Given the description of an element on the screen output the (x, y) to click on. 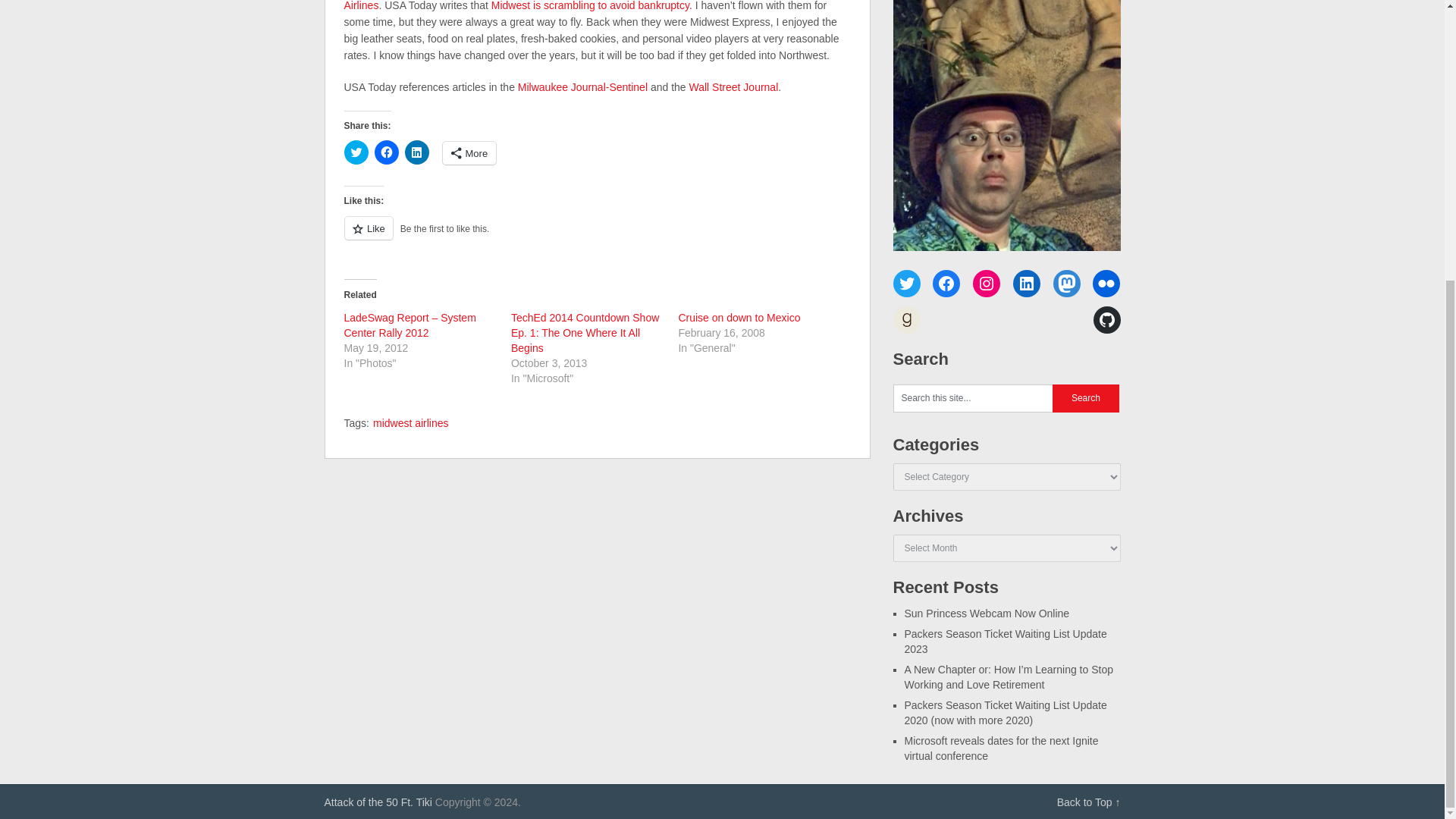
Midwest is scrambling to avoid bankruptcy (590, 5)
Click to share on LinkedIn (416, 152)
Milwaukee Journal-Sentinel (582, 87)
Wall Street Journal (733, 87)
Click to share on Twitter (355, 152)
Like or Reblog (596, 236)
Click to share on Facebook (386, 152)
Search this site... (972, 398)
Midwest Airlines (588, 5)
Cruise on down to Mexico (738, 317)
Search (1085, 398)
More (469, 152)
